Given the description of an element on the screen output the (x, y) to click on. 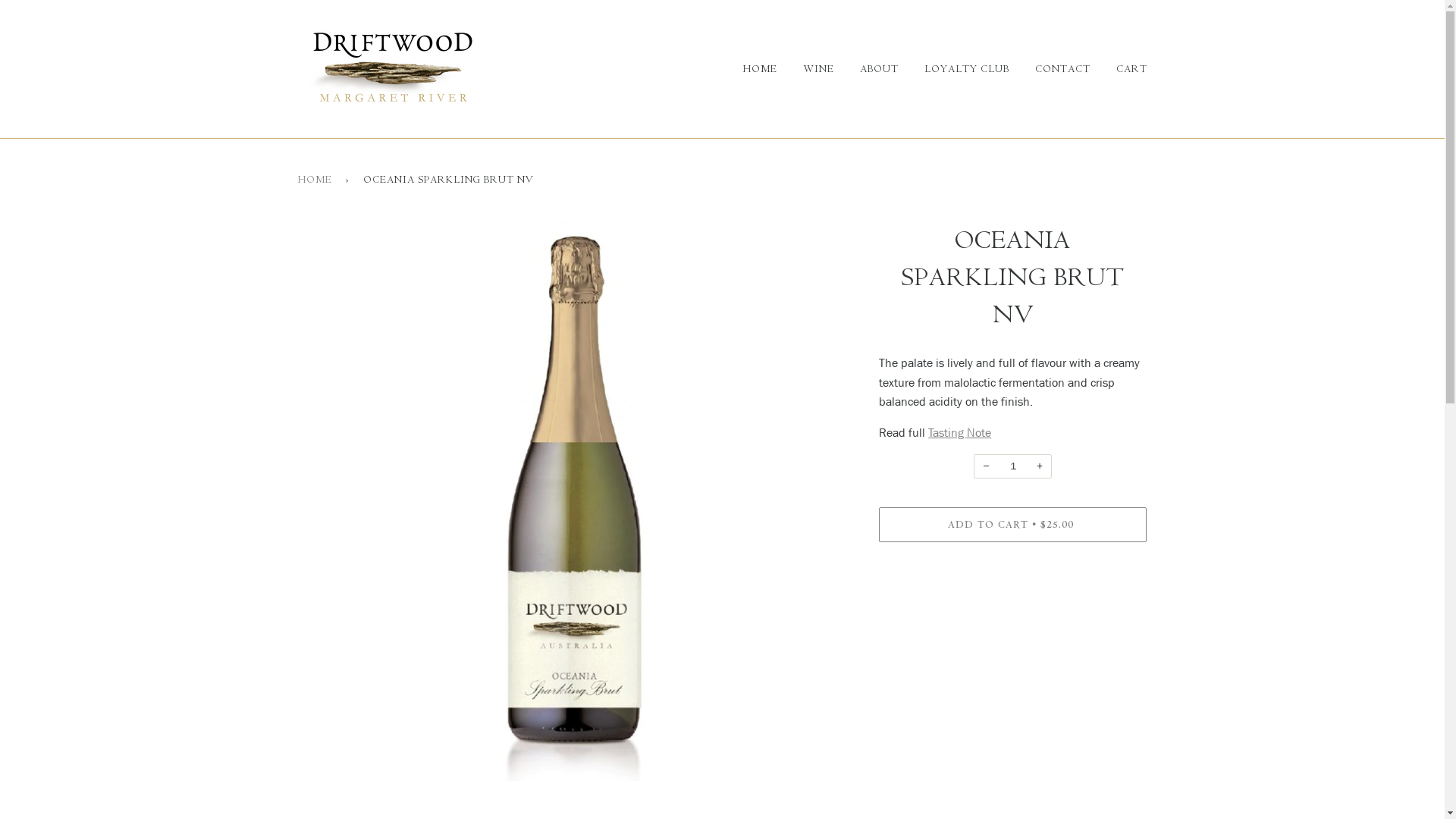
ABOUT Element type: text (867, 68)
HOME Element type: text (756, 68)
Tasting Note Element type: text (959, 432)
LOYALTY CLUB Element type: text (954, 68)
WINE Element type: text (806, 68)
HOME Element type: text (316, 180)
CART Element type: text (1120, 68)
CONTACT Element type: text (1050, 68)
